Given the description of an element on the screen output the (x, y) to click on. 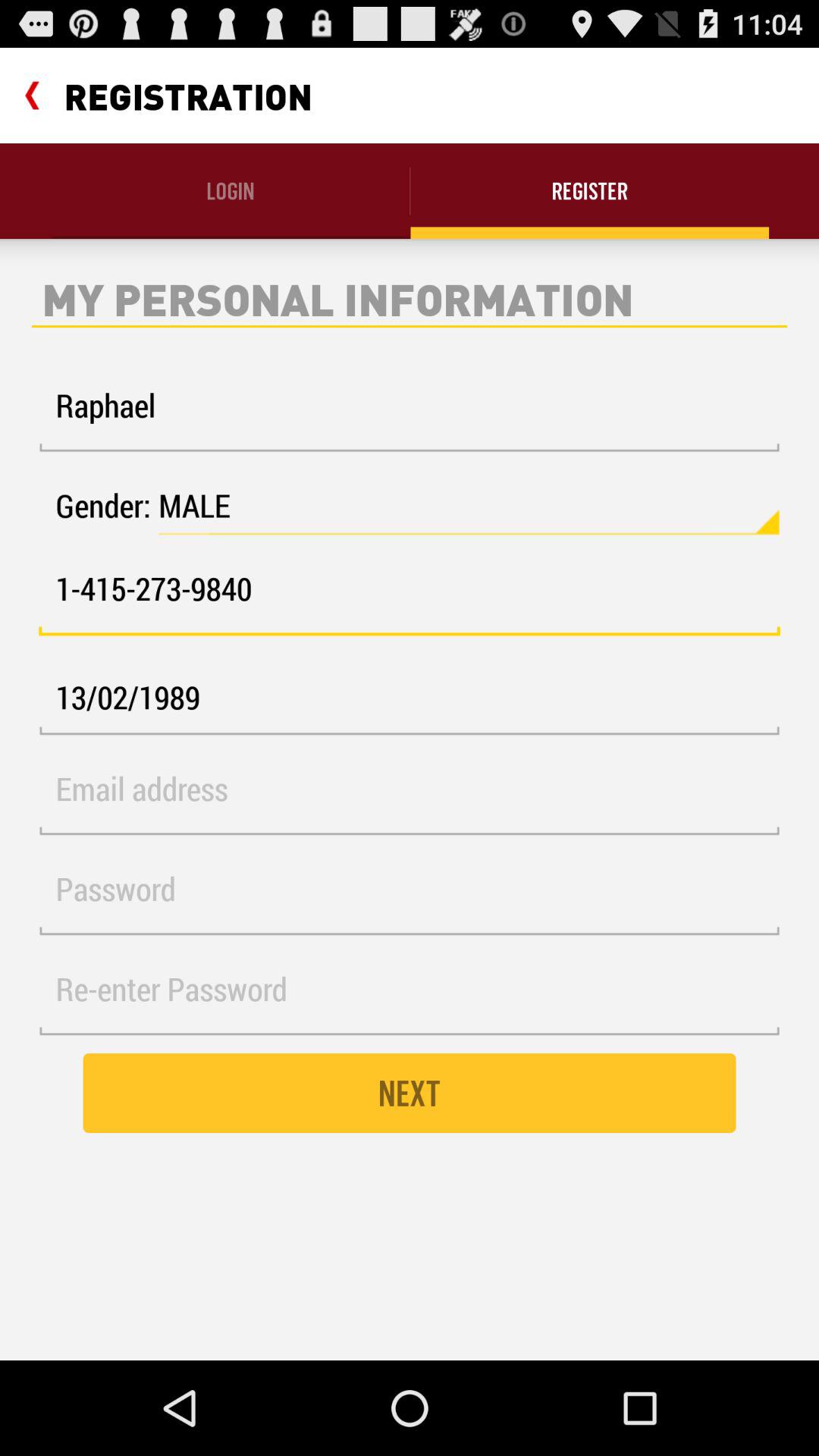
open icon below the gender: item (409, 597)
